Given the description of an element on the screen output the (x, y) to click on. 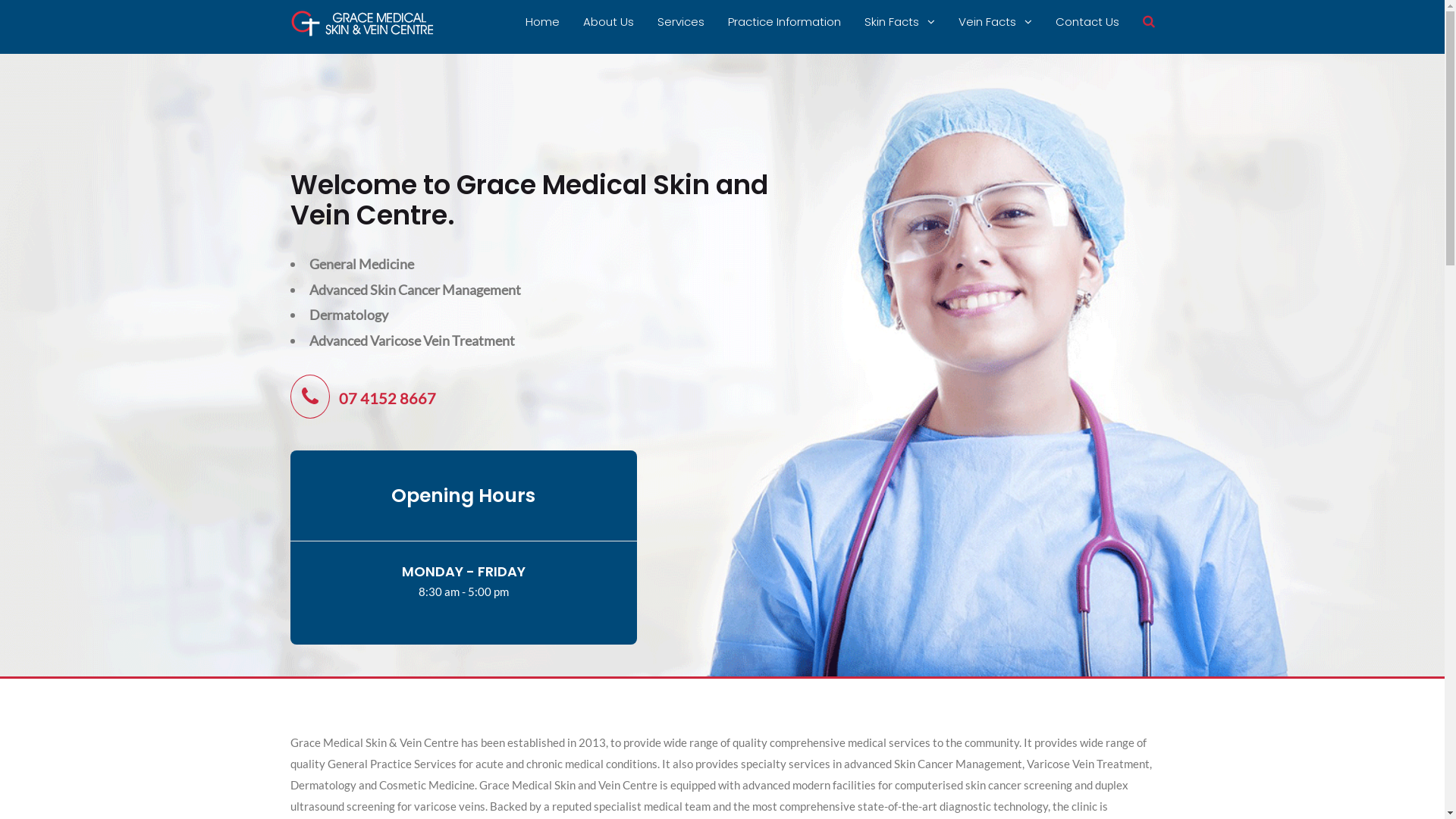
Home Element type: text (541, 21)
Vein Facts Element type: text (994, 21)
  07 4152 8667 Element type: text (362, 398)
About Us Element type: text (607, 21)
Contact Us Element type: text (1086, 21)
Services Element type: text (680, 21)
Practice Information Element type: text (784, 21)
Skin Facts Element type: text (899, 21)
